Given the description of an element on the screen output the (x, y) to click on. 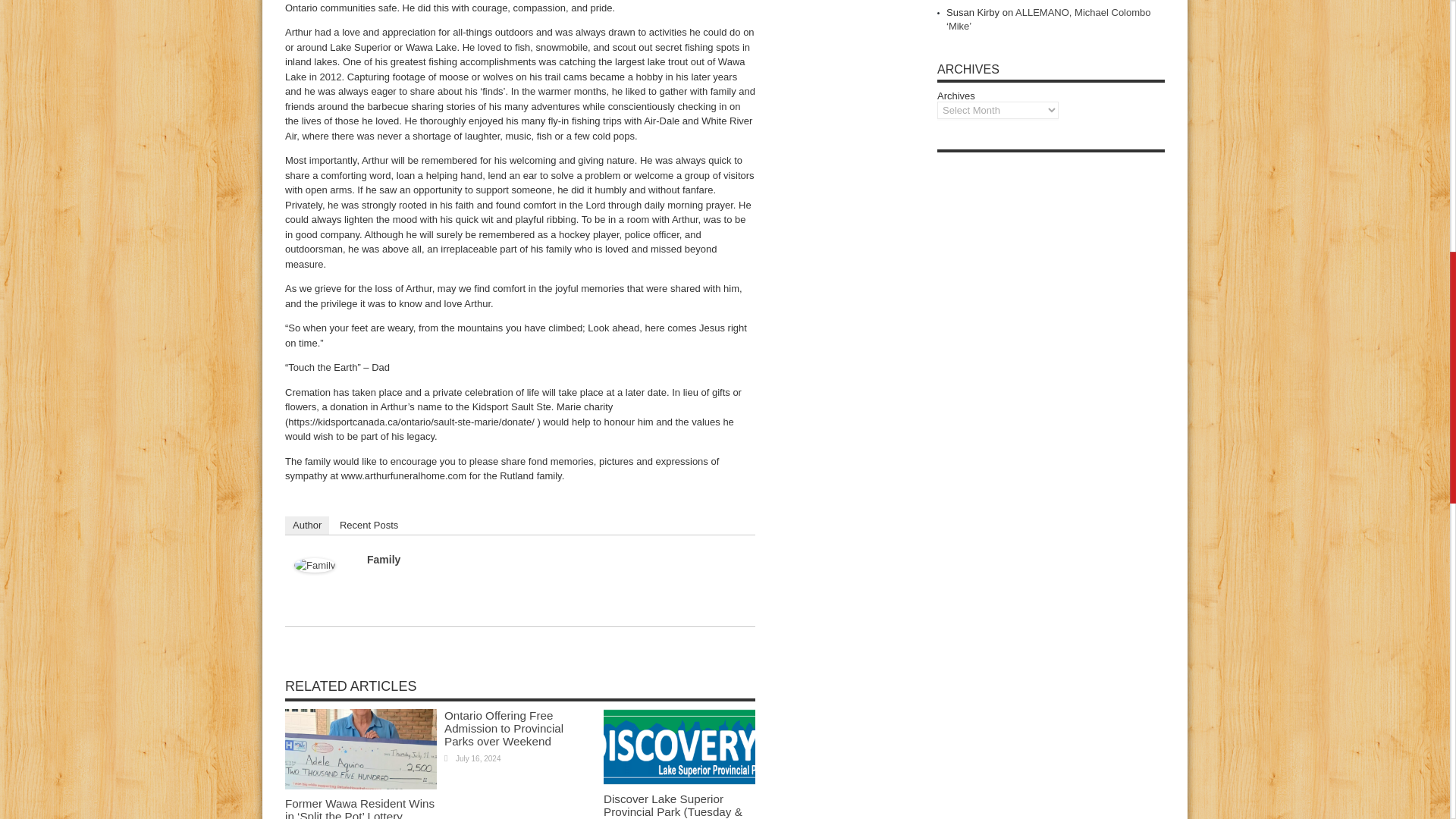
Recent Posts (368, 524)
Author (307, 524)
Family (383, 559)
Family (314, 568)
